Given the description of an element on the screen output the (x, y) to click on. 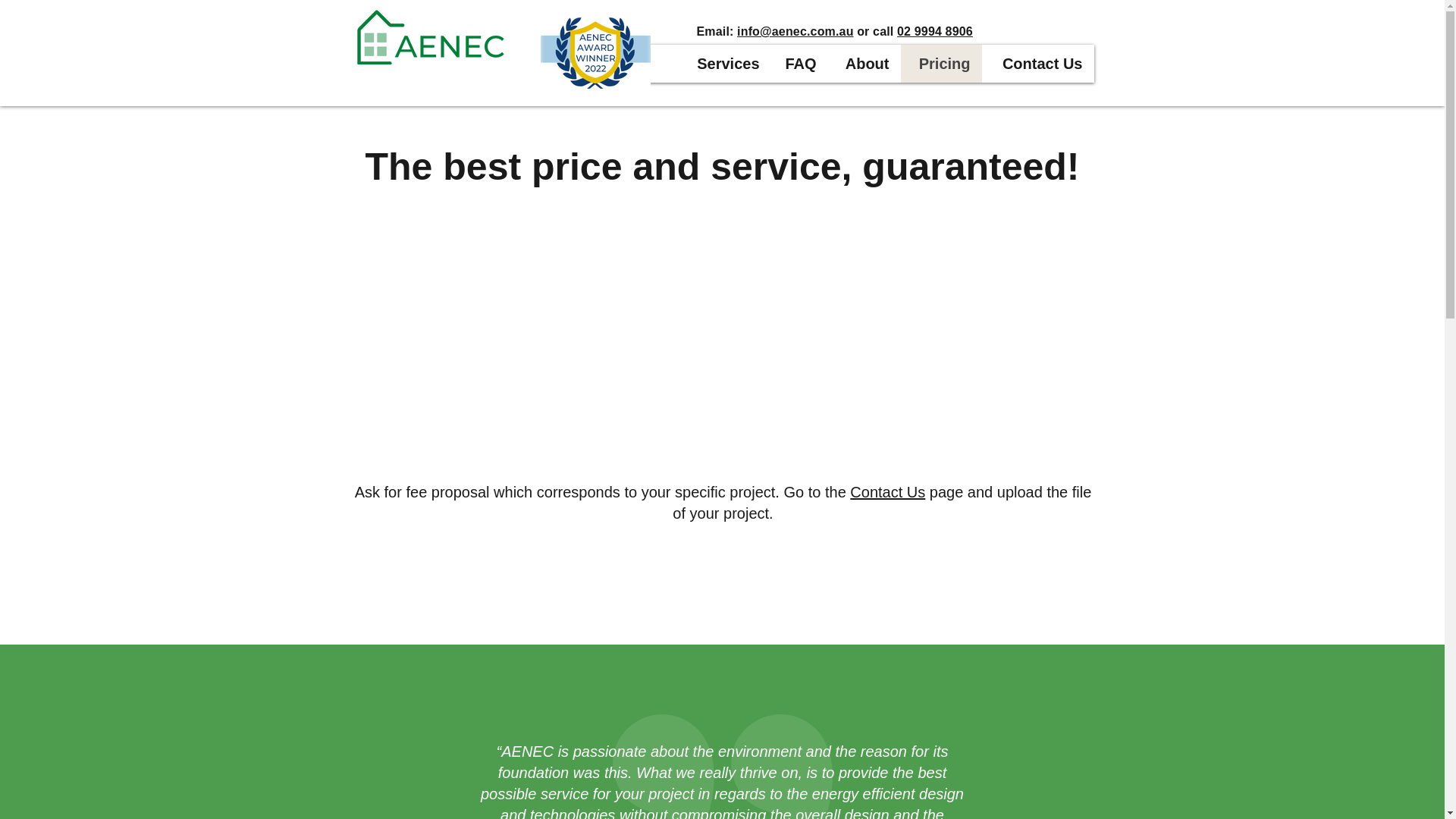
Contact Us (887, 492)
FAQ (798, 63)
About (864, 63)
Contact Us (1037, 63)
Pricing (941, 63)
AENEC (430, 36)
Australian Enterprise Award Winner 2022 (594, 52)
02 9994 8906 (934, 31)
